Given the description of an element on the screen output the (x, y) to click on. 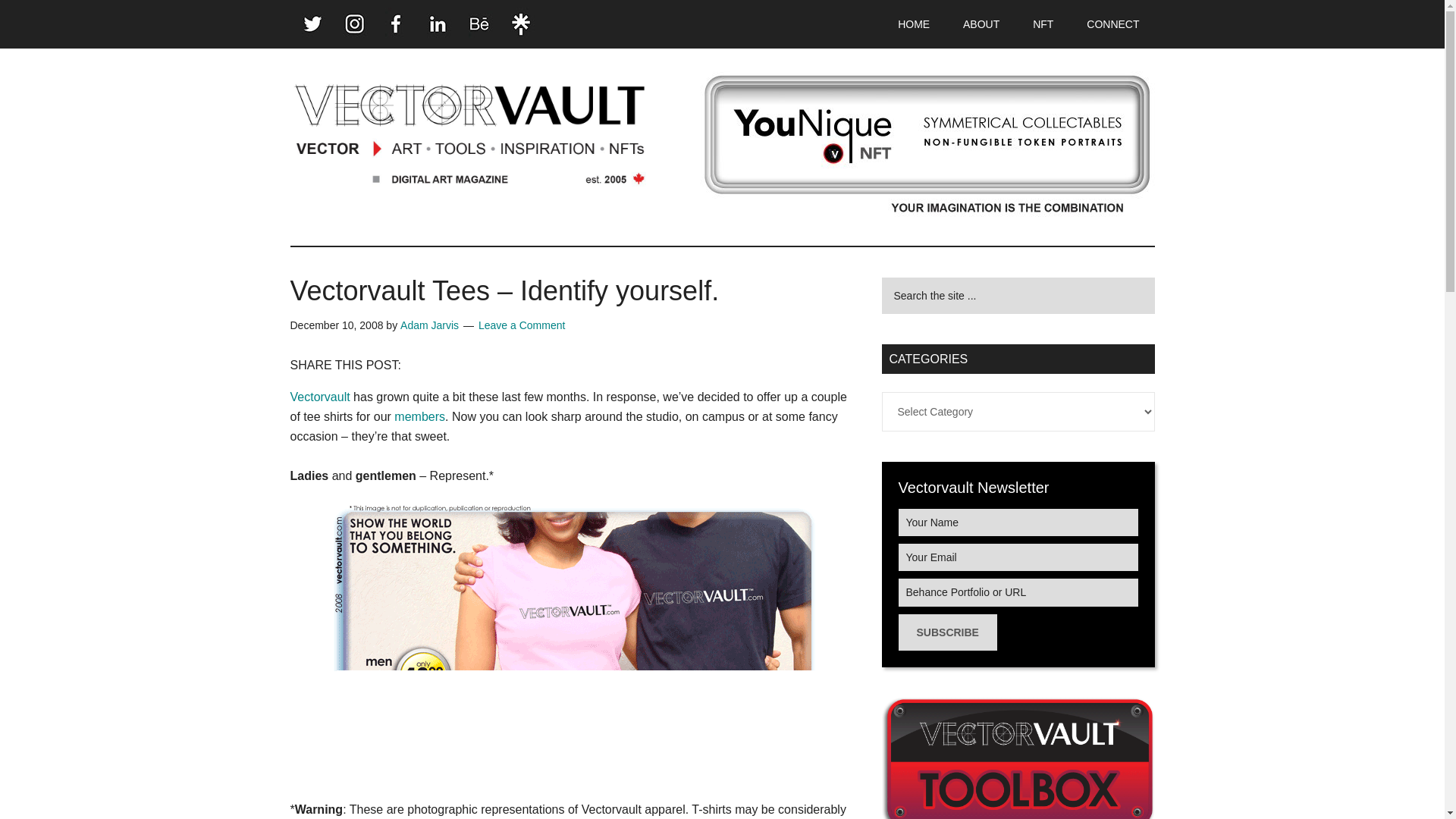
NFT (1042, 24)
HOME (913, 24)
Subscribe (946, 632)
ABOUT (980, 24)
